Given the description of an element on the screen output the (x, y) to click on. 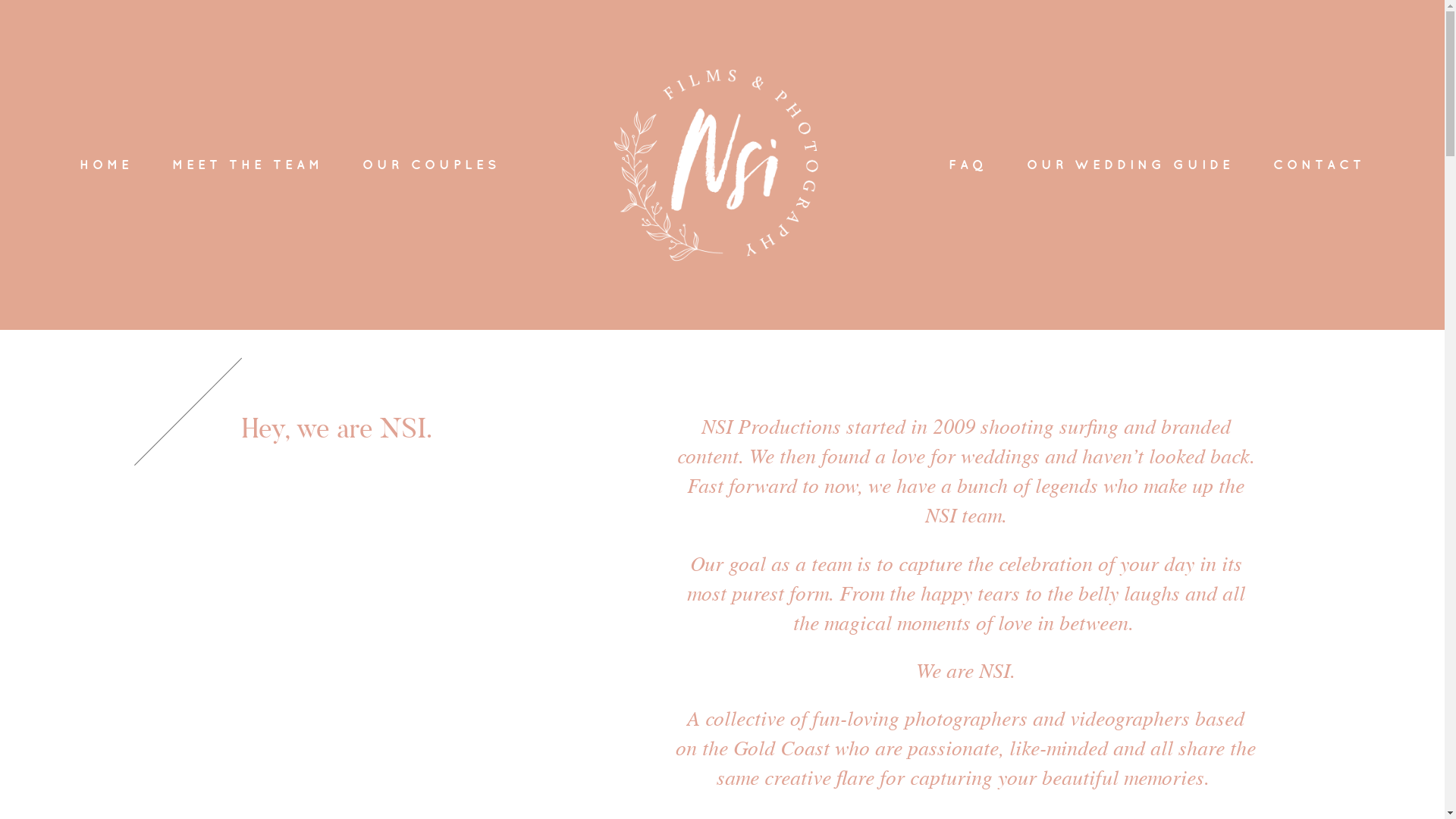
OUR WEDDING GUIDE Element type: text (1129, 164)
HOME Element type: text (105, 164)
CONTACT Element type: text (1319, 164)
FAQ Element type: text (967, 164)
OUR COUPLES Element type: text (430, 164)
MEET THE TEAM Element type: text (247, 164)
